Given the description of an element on the screen output the (x, y) to click on. 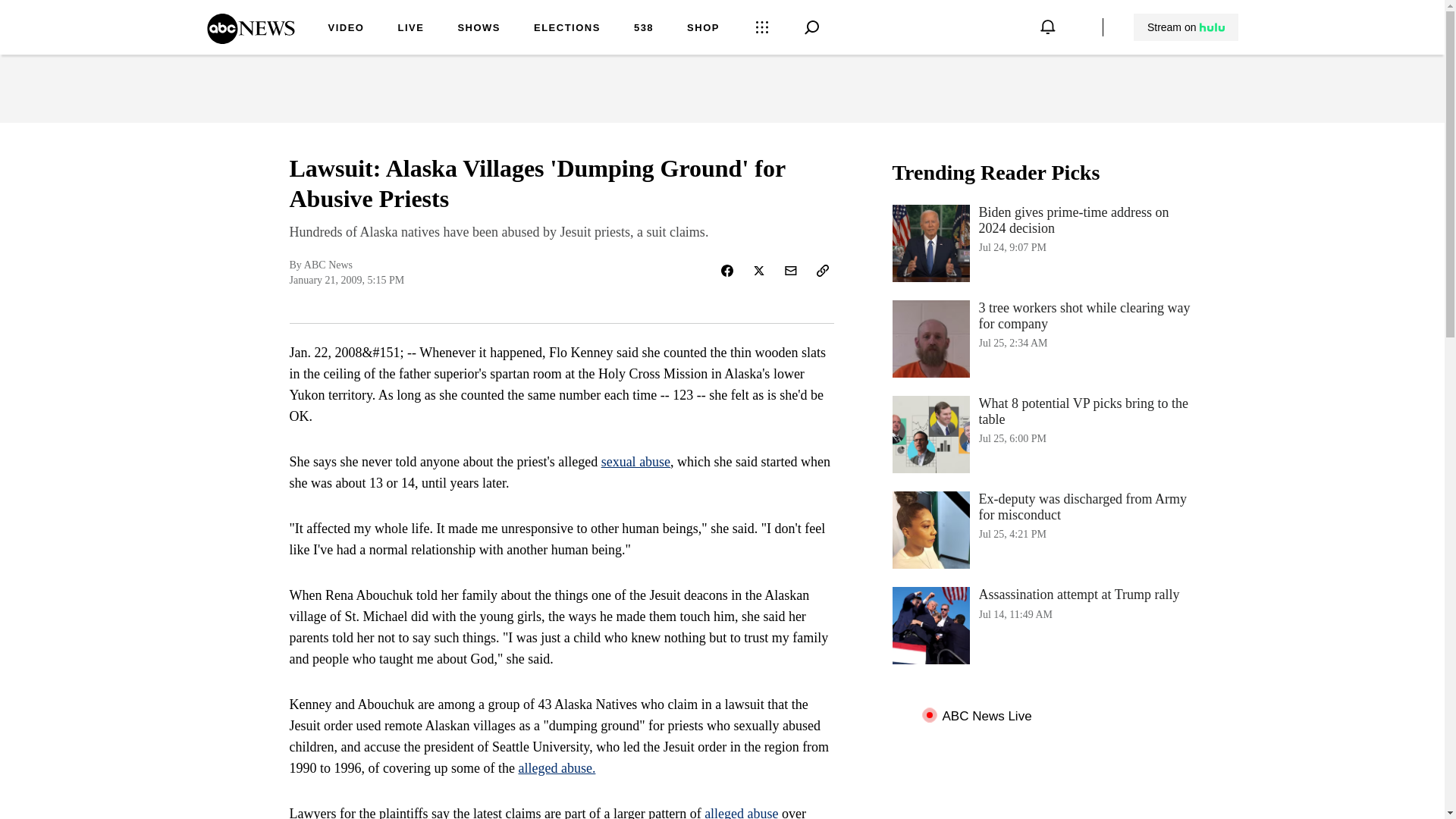
sexual abuse (1043, 625)
ELECTIONS (635, 461)
LIVE (1043, 434)
Stream on (566, 28)
alleged abuse. (410, 28)
ABC News (1186, 26)
VIDEO (556, 767)
538 (250, 38)
alleged abuse (345, 28)
SHOP (643, 28)
SHOWS (740, 812)
